Given the description of an element on the screen output the (x, y) to click on. 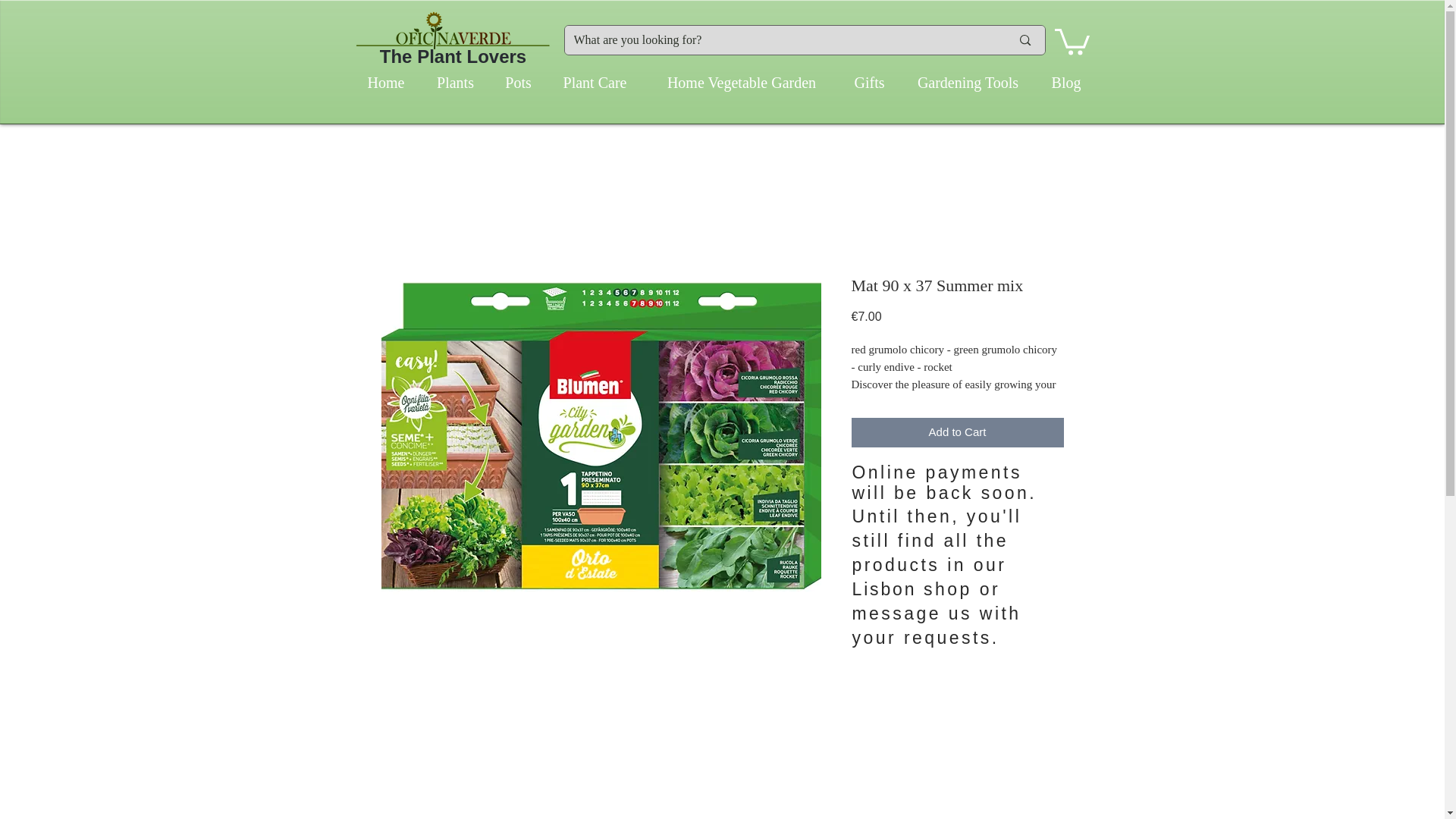
Gardening Tools (967, 82)
Home Vegetable Garden (741, 82)
Add to Cart (956, 432)
Blog (1065, 82)
Pots (517, 82)
Plants (455, 82)
Plant Care (595, 82)
Gifts (869, 82)
Oficina Verde, Plants, Pots and Love (452, 29)
Home (386, 82)
